Given the description of an element on the screen output the (x, y) to click on. 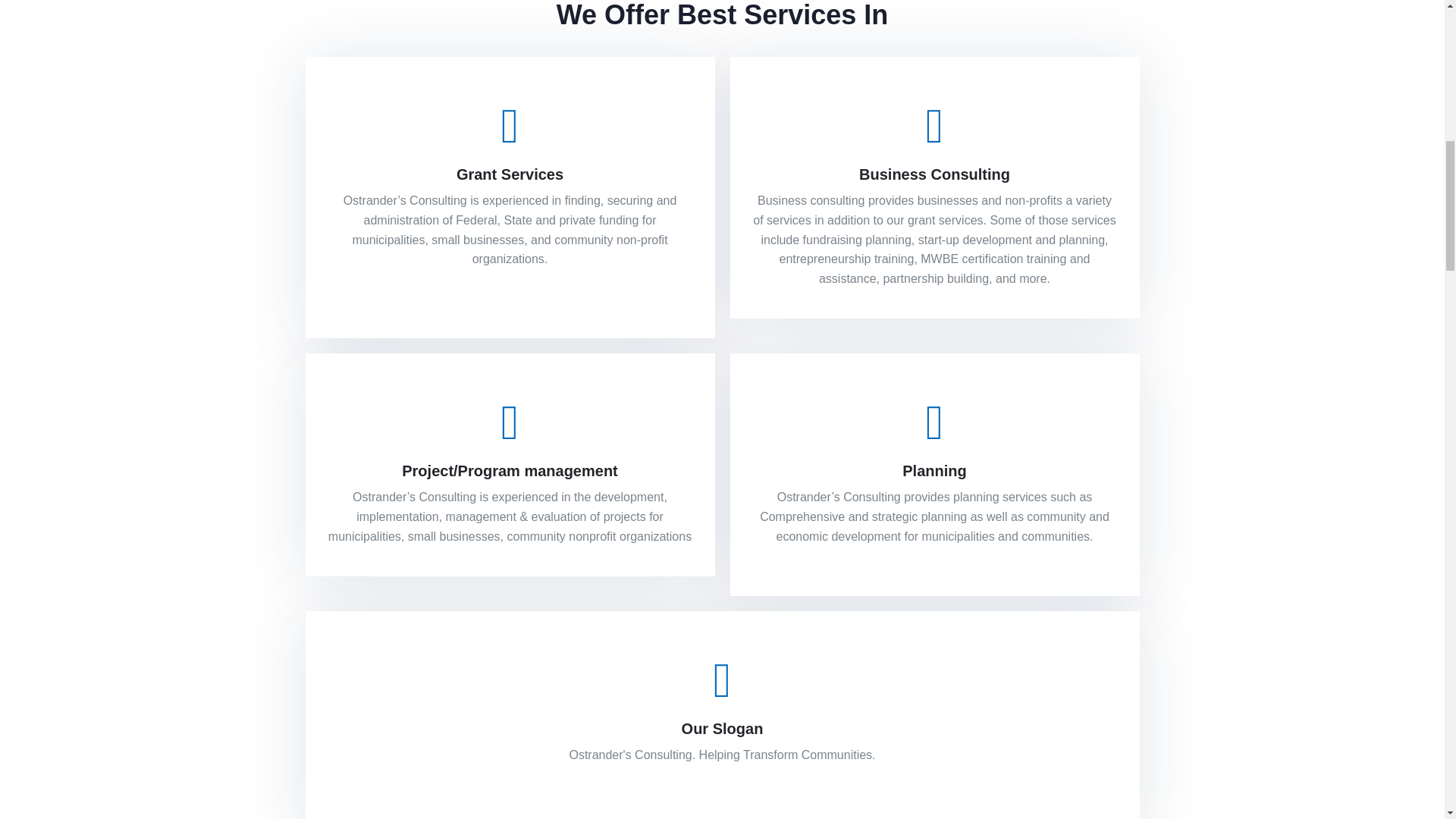
Business Consulting (934, 174)
Grant Services (510, 174)
Planning (934, 470)
Our Slogan (721, 728)
